Given the description of an element on the screen output the (x, y) to click on. 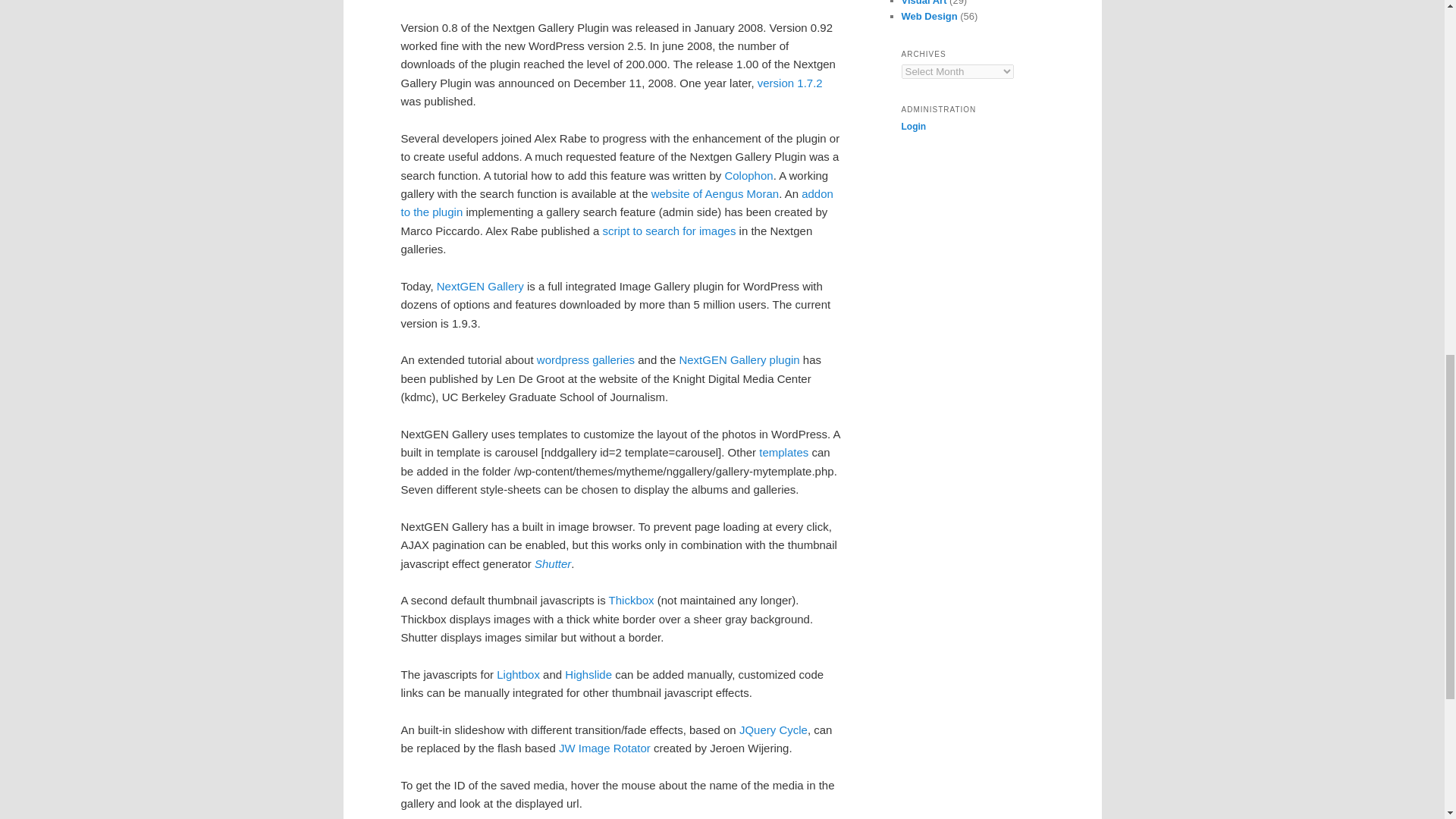
script to search for images (668, 230)
NextGEN Gallery Demo (480, 286)
search for images (668, 230)
JQuery Cycle (773, 729)
Nextgen Gallery Search Addon (616, 202)
Highslide (587, 674)
Lightbox (518, 674)
wordpress galleries (585, 359)
Colophon (748, 174)
addon to the plugin (616, 202)
